Given the description of an element on the screen output the (x, y) to click on. 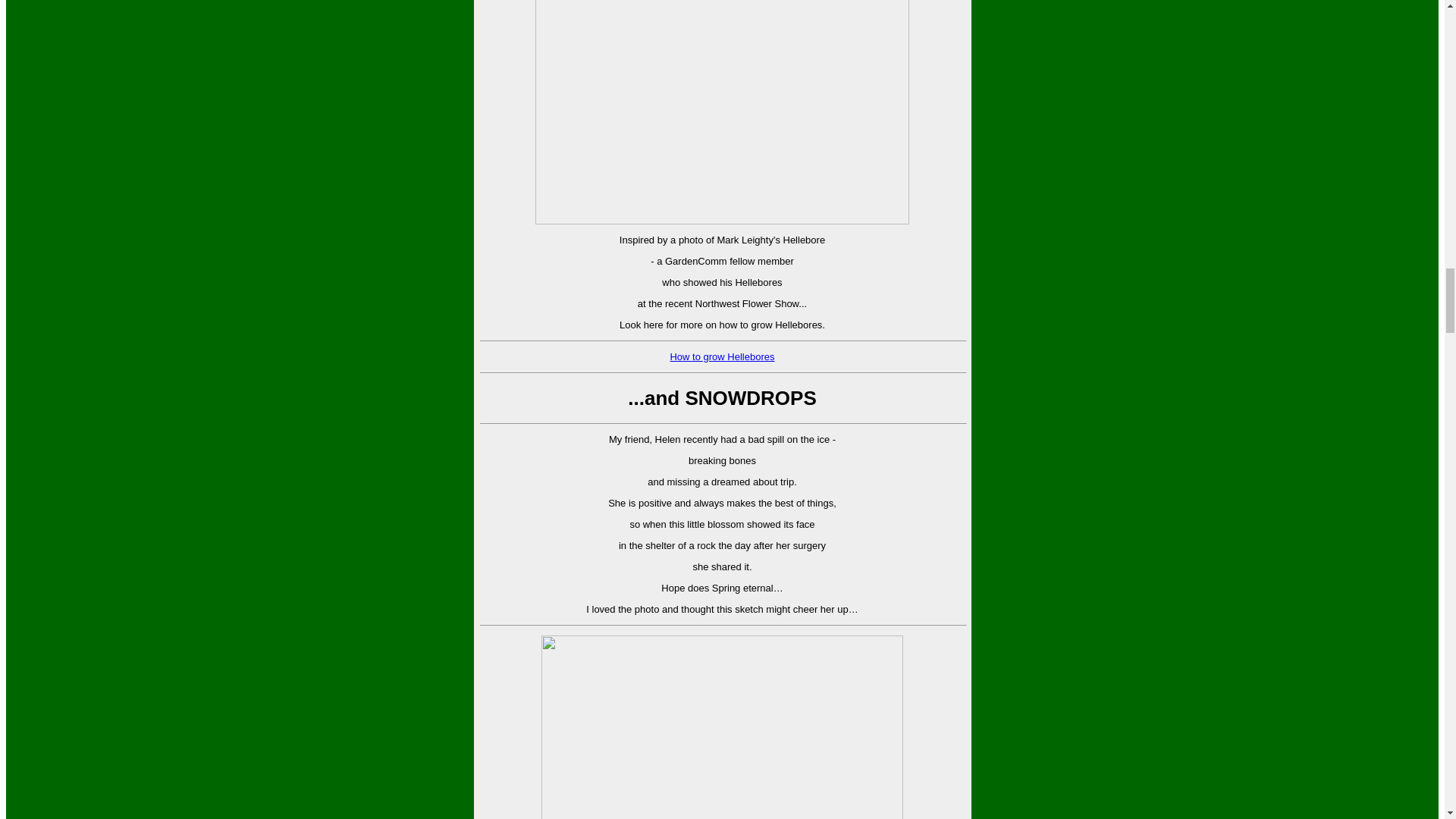
How to grow Hellebores (721, 356)
my snowdrops sketch (721, 727)
my Hellebore sketch (721, 112)
